Given the description of an element on the screen output the (x, y) to click on. 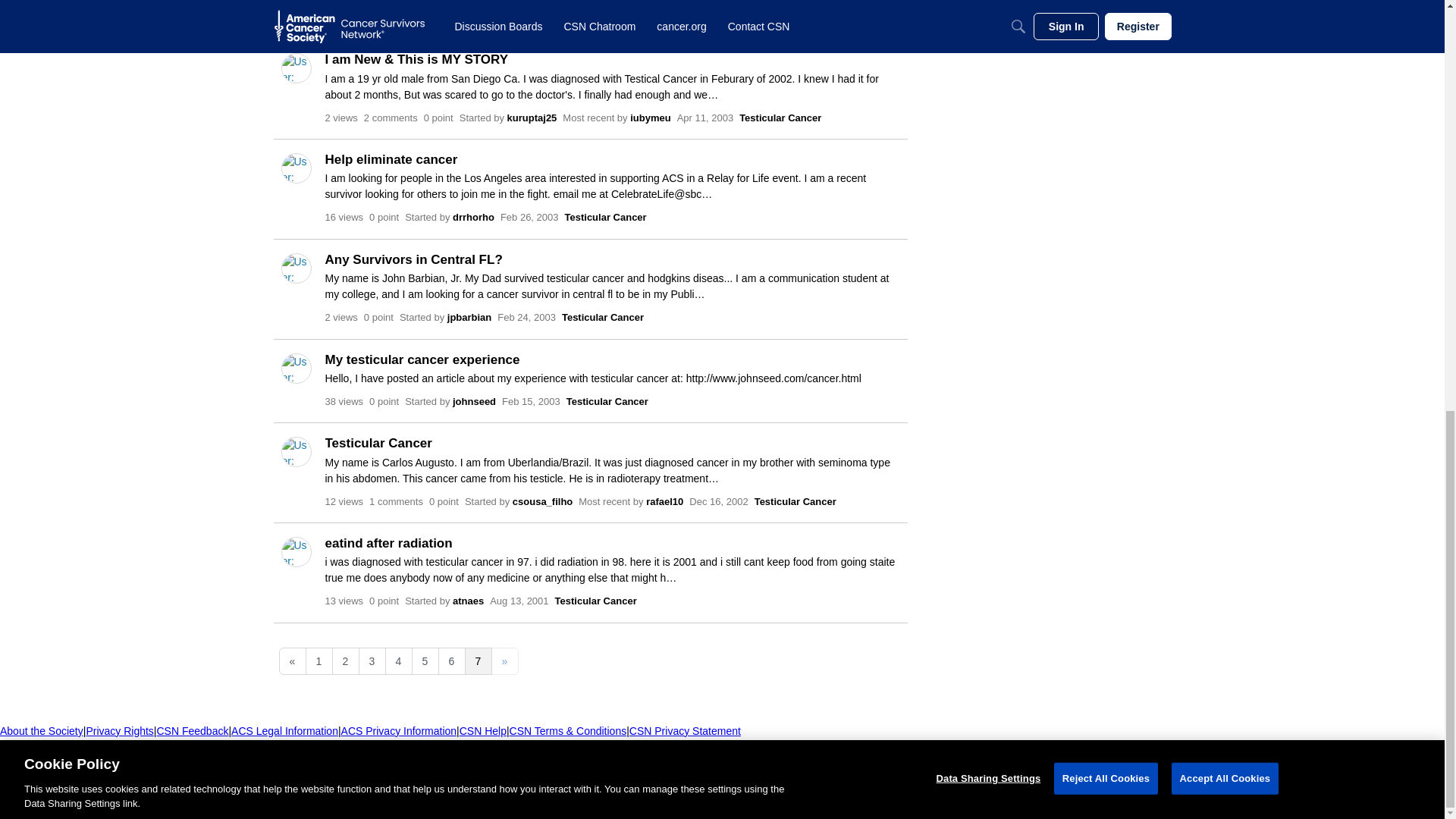
iubymeu (661, 17)
Monday, February 24, 2003 at 2:14 PM (526, 317)
Saturday, February 15, 2003 at 12:28 AM (531, 401)
iubymeu (649, 116)
Wednesday, April 16, 2003 at 4:13 PM (715, 17)
Testicular Cancer (791, 17)
rogermoore (539, 17)
Friday, April 11, 2003 at 1:41 AM (705, 116)
kuruptaj25 (531, 116)
Monday, December 16, 2002 at 11:18 PM (718, 500)
